Given the description of an element on the screen output the (x, y) to click on. 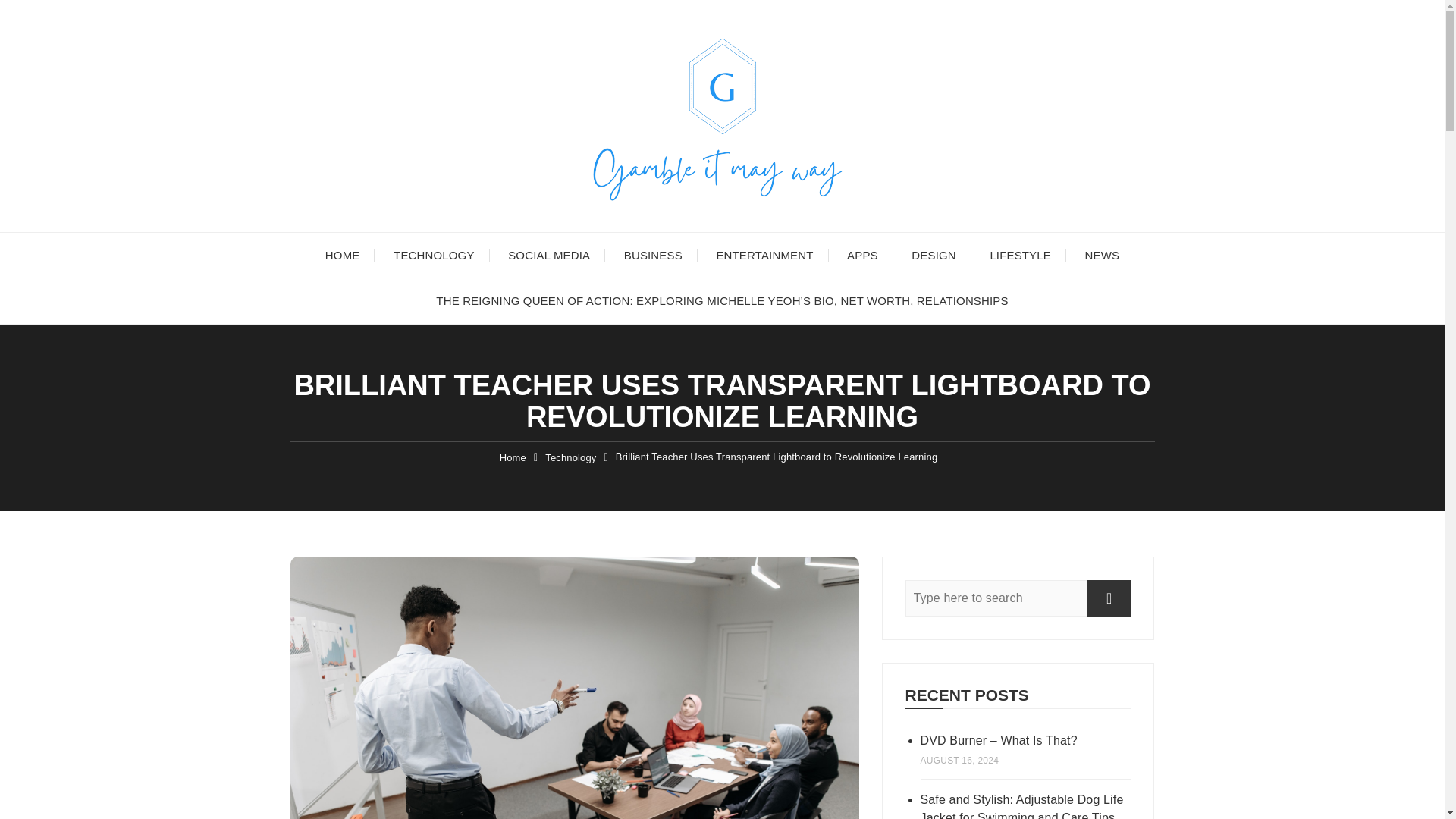
BUSINESS (652, 255)
APPS (862, 255)
Home (512, 458)
LIFESTYLE (1019, 255)
ENTERTAINMENT (764, 255)
NEWS (1102, 255)
DESIGN (933, 255)
SOCIAL MEDIA (549, 255)
TECHNOLOGY (433, 255)
HOME (342, 255)
